Given the description of an element on the screen output the (x, y) to click on. 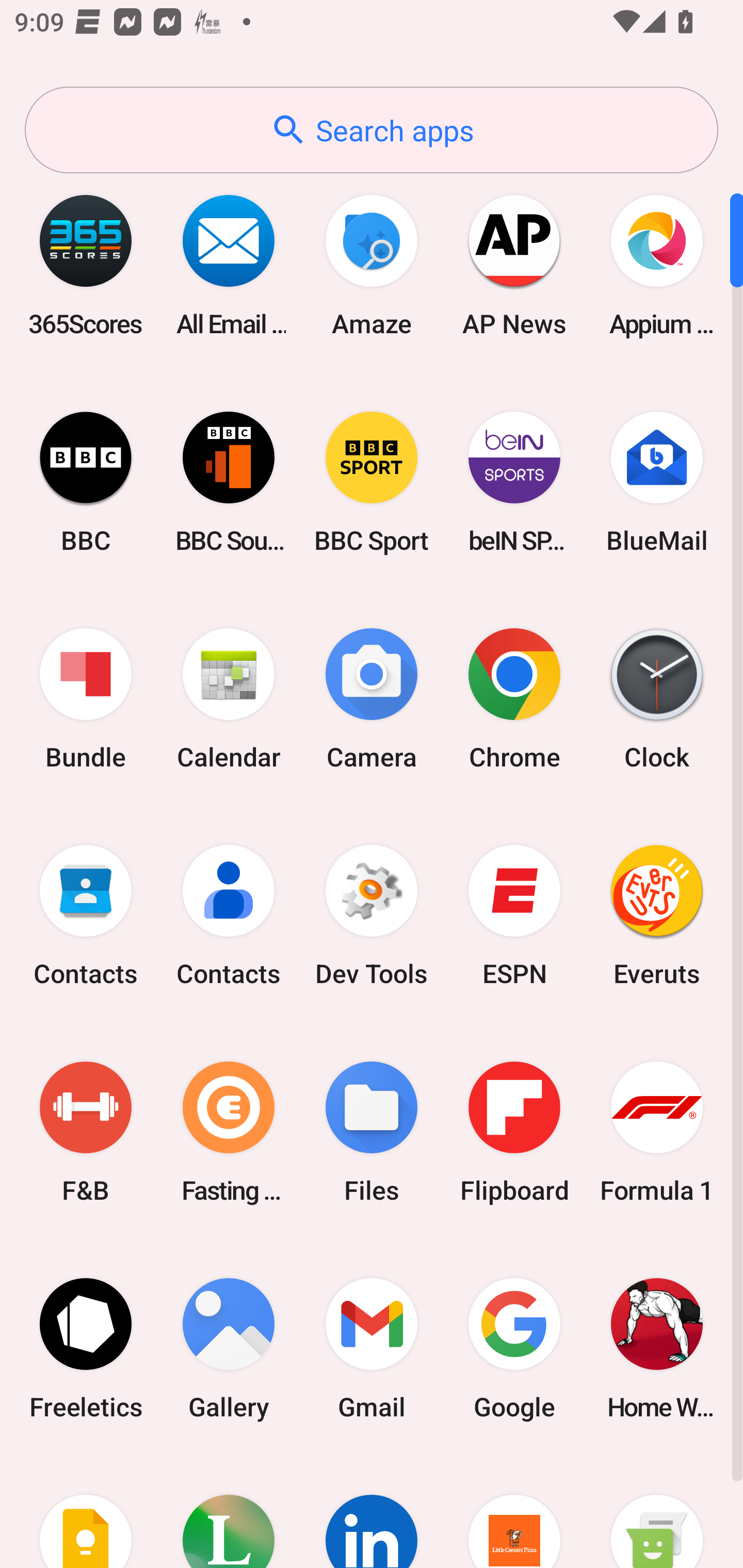
  Search apps (371, 130)
365Scores (85, 264)
All Email Connect (228, 264)
Amaze (371, 264)
AP News (514, 264)
Appium Settings (656, 264)
BBC (85, 482)
BBC Sounds (228, 482)
BBC Sport (371, 482)
beIN SPORTS (514, 482)
BlueMail (656, 482)
Bundle (85, 699)
Calendar (228, 699)
Camera (371, 699)
Chrome (514, 699)
Clock (656, 699)
Contacts (85, 915)
Contacts (228, 915)
Dev Tools (371, 915)
ESPN (514, 915)
Everuts (656, 915)
F&B (85, 1131)
Fasting Coach (228, 1131)
Files (371, 1131)
Flipboard (514, 1131)
Formula 1 (656, 1131)
Freeletics (85, 1348)
Gallery (228, 1348)
Gmail (371, 1348)
Google (514, 1348)
Home Workout (656, 1348)
